Given the description of an element on the screen output the (x, y) to click on. 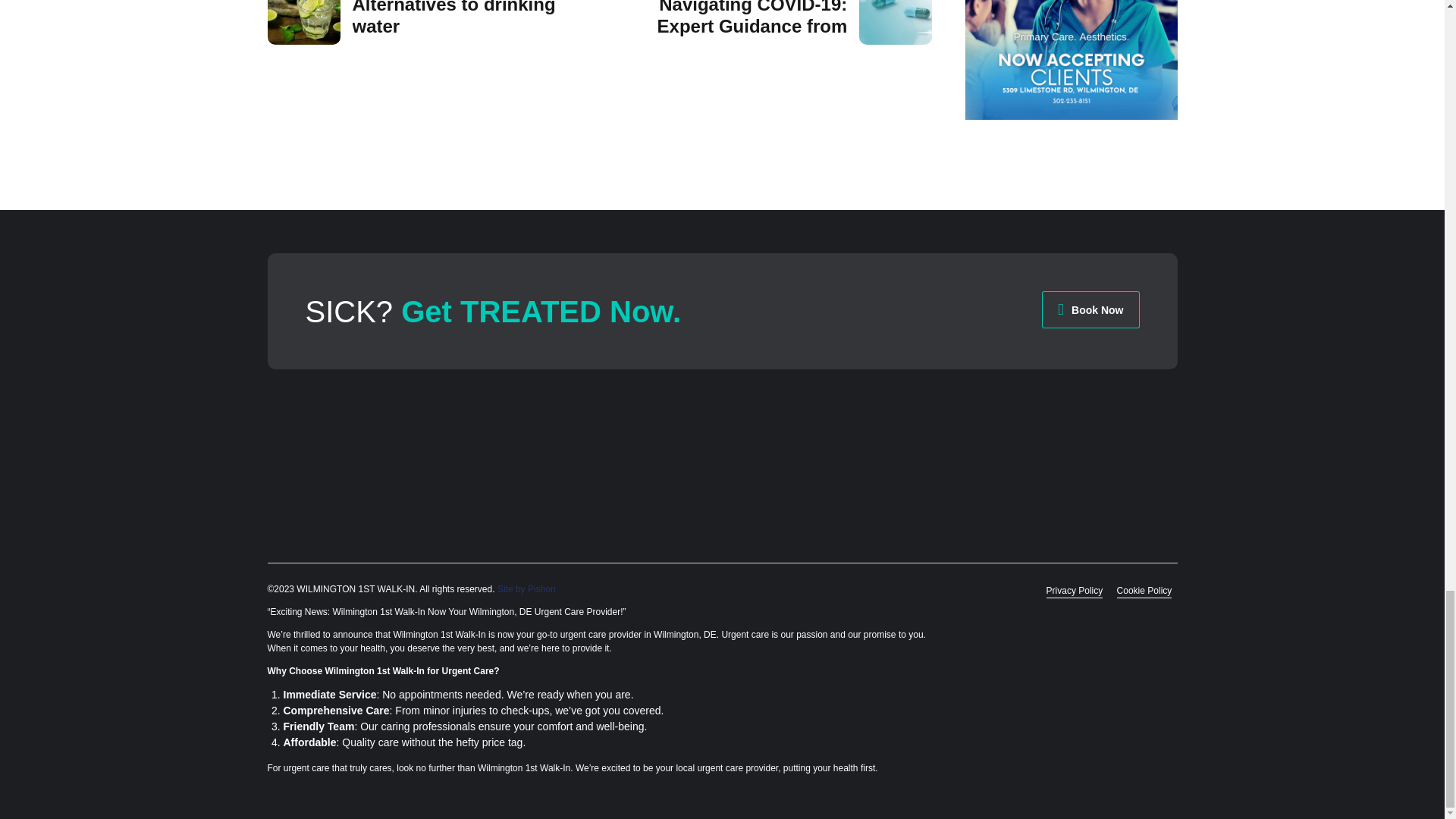
Book Now (426, 22)
